Given the description of an element on the screen output the (x, y) to click on. 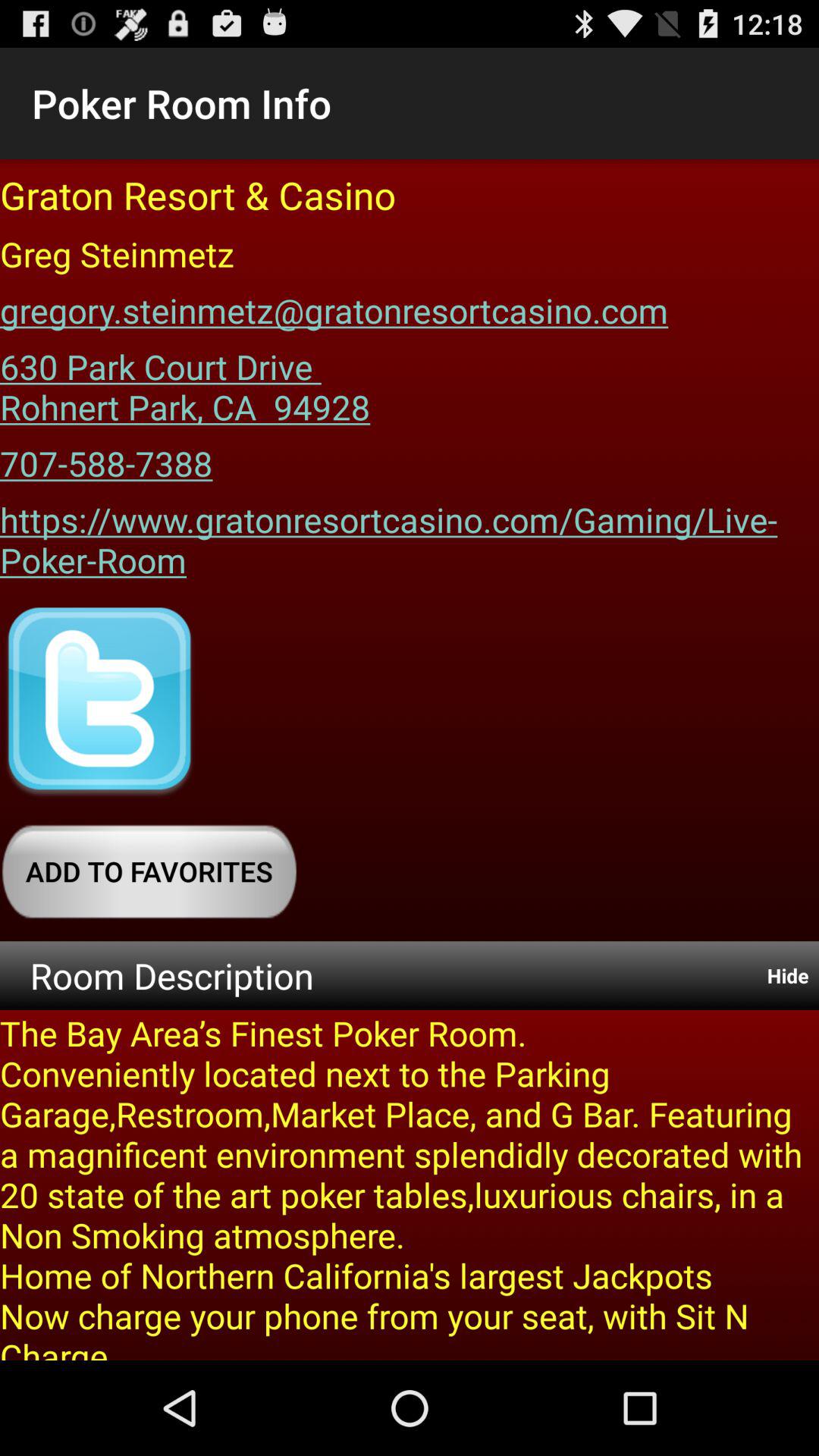
scroll until the gregory steinmetz gratonresortcasino app (334, 304)
